Given the description of an element on the screen output the (x, y) to click on. 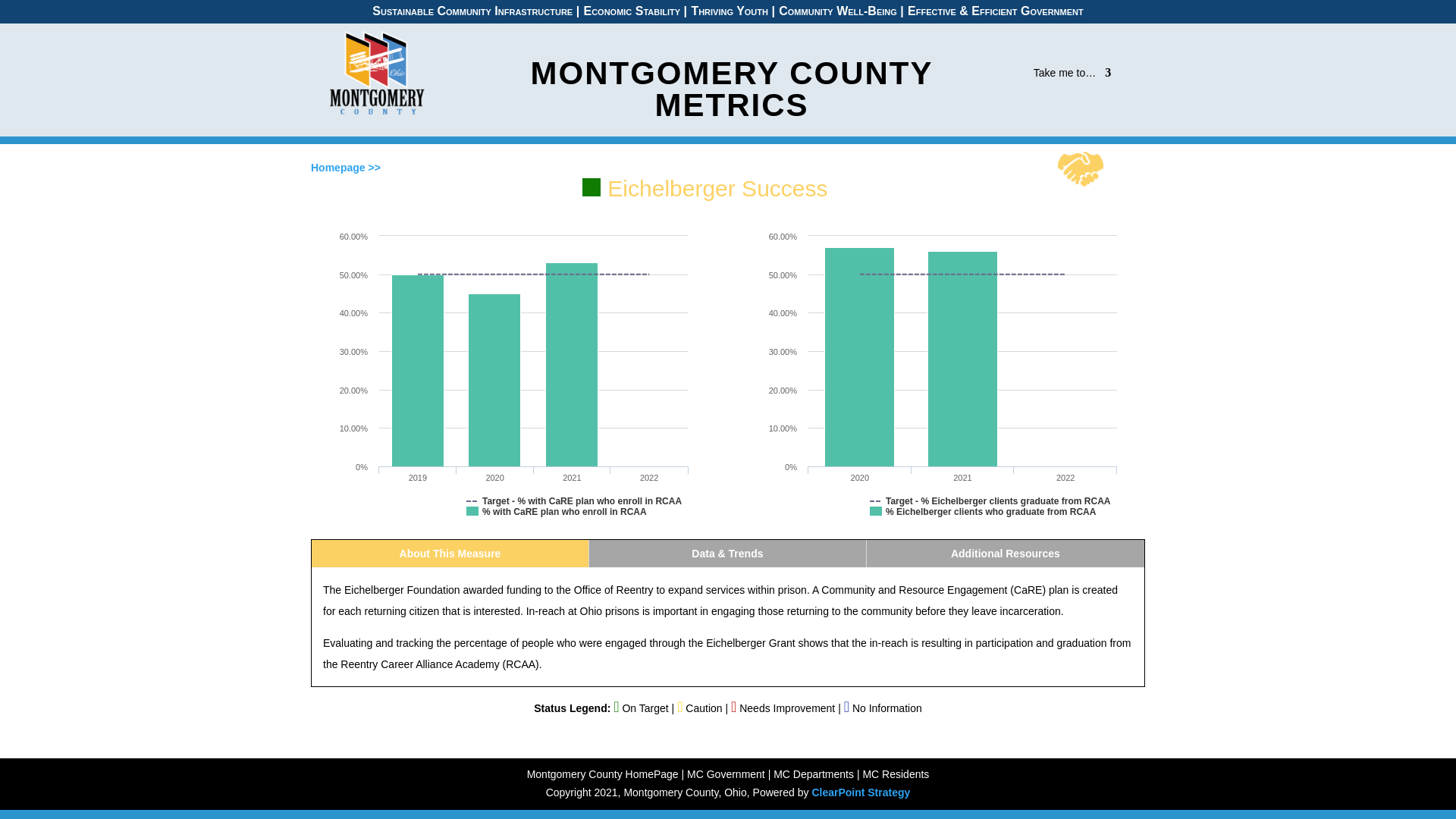
On Target (590, 187)
